Given the description of an element on the screen output the (x, y) to click on. 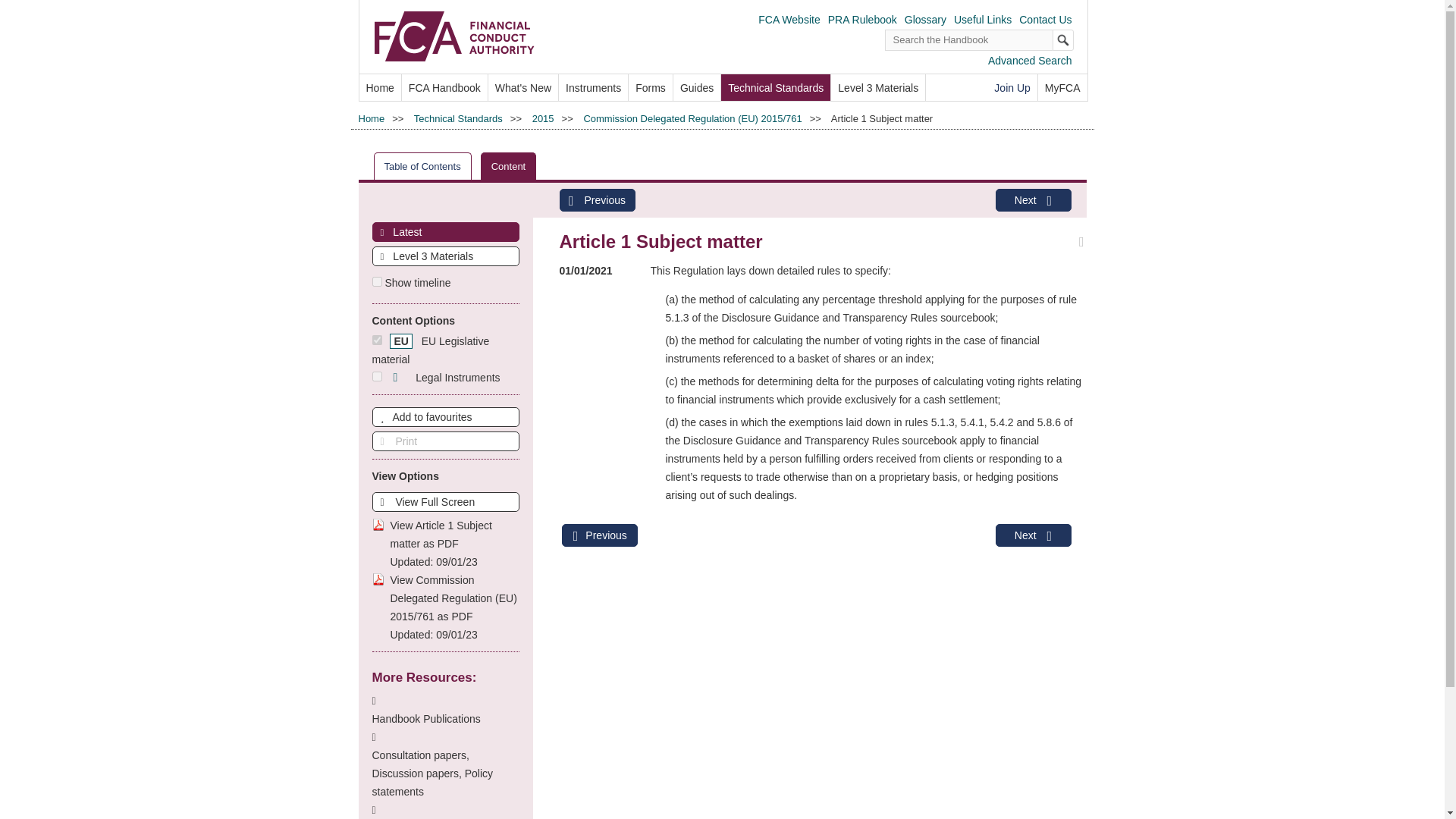
Search (1063, 39)
Navigate one page forwards (1032, 200)
Level 3 Materials (445, 256)
Search (1063, 39)
Previous (596, 200)
FCA Handbook (444, 87)
Instruments (593, 87)
Guides (696, 87)
Latest (445, 231)
Level 3 Materials (877, 87)
What's New (522, 87)
FCA Website (788, 19)
Submit Search (1063, 39)
Toggle Legal instrument indicators on and off (444, 377)
